Given the description of an element on the screen output the (x, y) to click on. 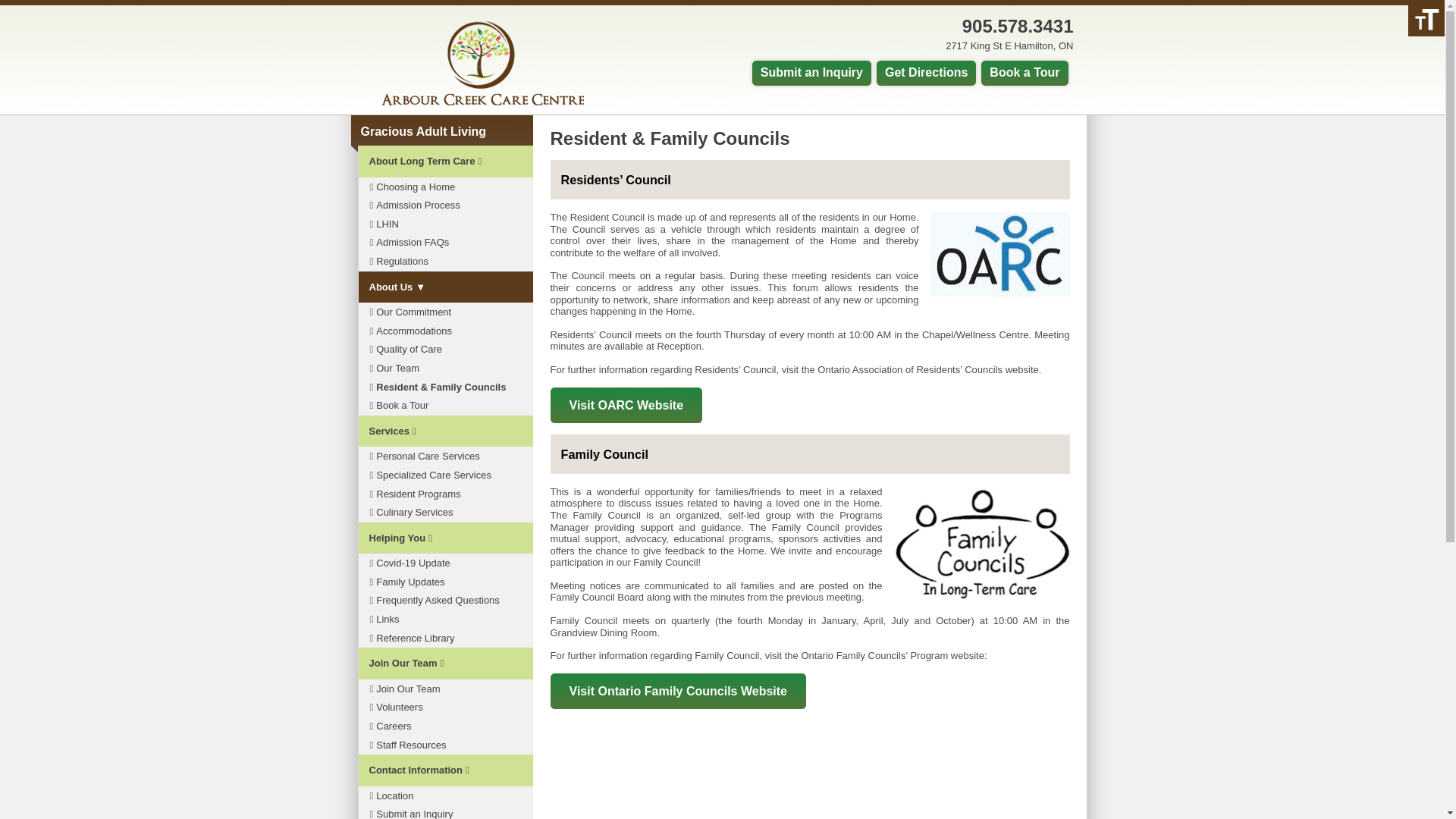
Accommodations Element type: text (410, 331)
About Us Element type: text (444, 287)
Visit Ontario Family Councils Website Element type: text (678, 691)
Specialized Care Services Element type: text (430, 475)
Accessibility Helper sidebar Element type: hover (1426, 18)
Personal Care Services Element type: text (425, 456)
About Long Term Care Element type: text (444, 161)
Join Our Team Element type: text (444, 663)
Family Updates Element type: text (407, 582)
Join Our Team Element type: text (405, 689)
Our Commitment Element type: text (410, 312)
Submit an Inquiry Element type: text (811, 72)
Choosing a Home Element type: text (412, 187)
Helping You Element type: text (444, 538)
Book a Tour Element type: text (399, 405)
Contact Information Element type: text (444, 770)
Staff Resources Element type: text (408, 745)
Book a Tour Element type: text (1024, 72)
Admission FAQs Element type: text (409, 242)
Reference Library Element type: text (412, 638)
Services Element type: text (444, 431)
Admission Process Element type: text (415, 205)
Resident Programs Element type: text (415, 494)
Frequently Asked Questions Element type: text (434, 600)
Culinary Services Element type: text (411, 512)
Quality of Care Element type: text (406, 349)
Volunteers Element type: text (396, 707)
Visit OARC Website Element type: text (626, 405)
Resident & Family Councils Element type: text (438, 387)
LHIN Element type: text (384, 224)
Our Team Element type: text (395, 368)
Careers Element type: text (390, 726)
Get Directions Element type: text (925, 72)
Regulations Element type: text (399, 261)
Covid-19 Update Element type: text (410, 563)
Links Element type: text (384, 619)
Location Element type: text (392, 796)
